Given the description of an element on the screen output the (x, y) to click on. 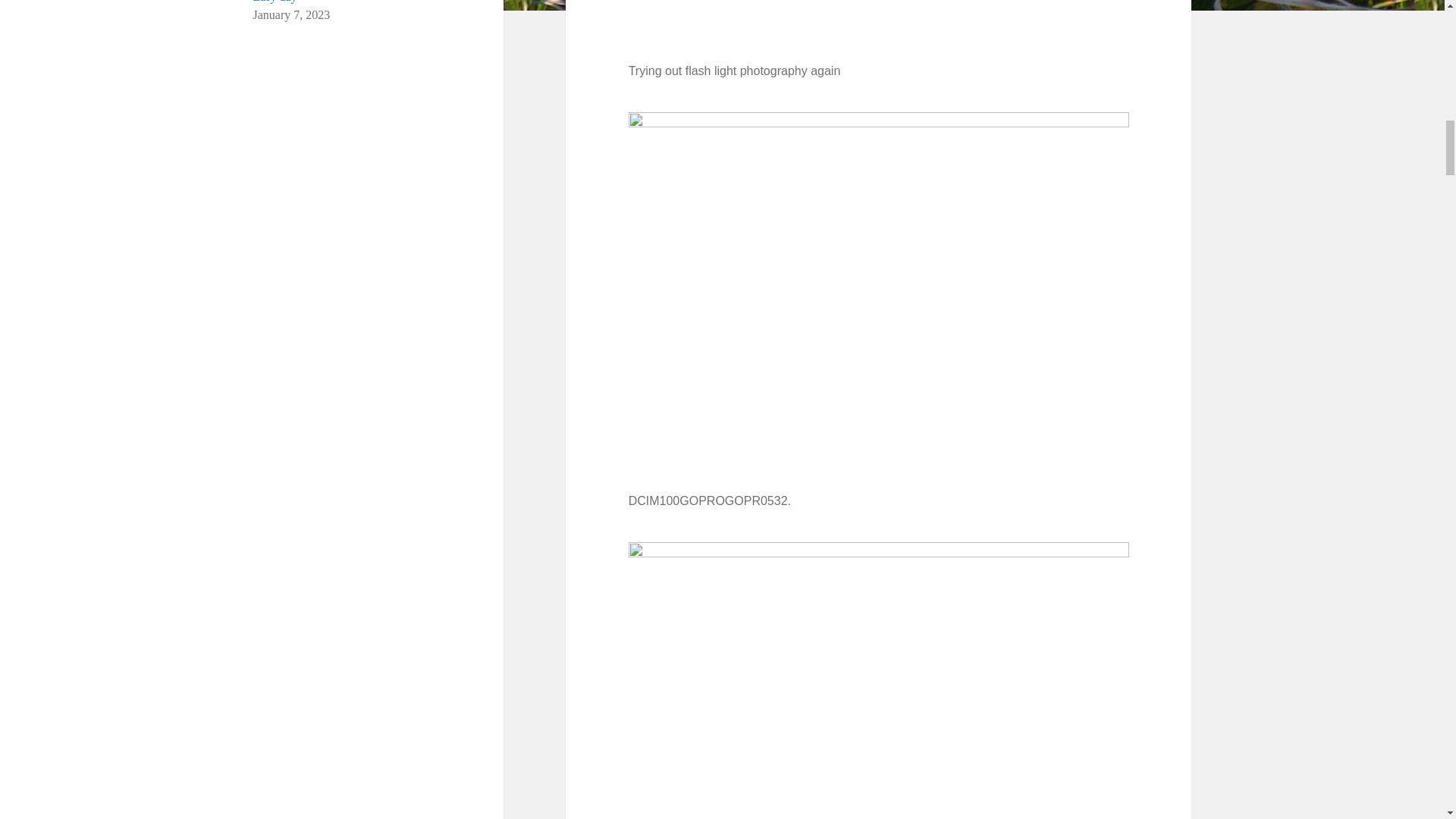
Easy day (275, 1)
